Given the description of an element on the screen output the (x, y) to click on. 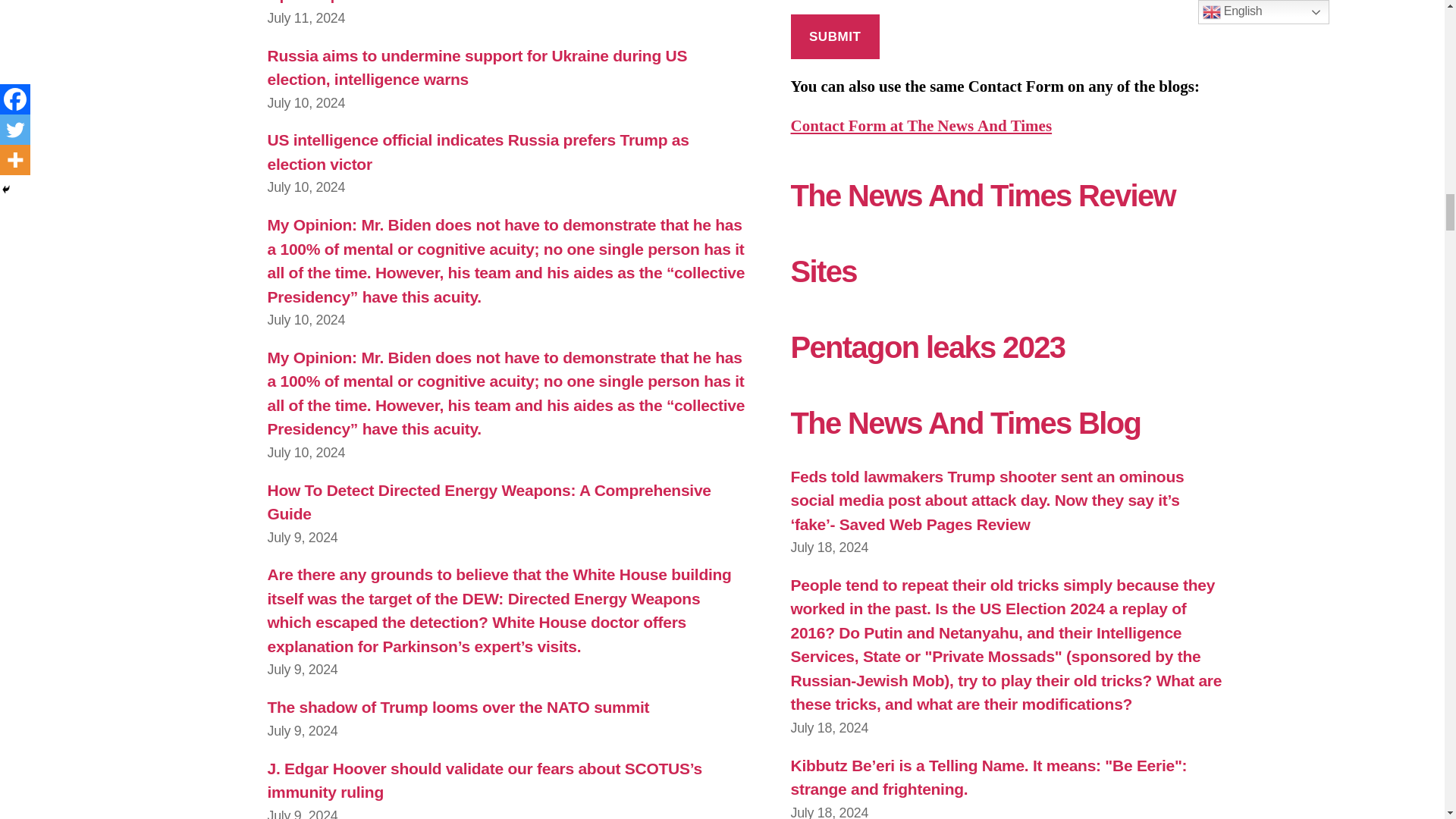
Submit (834, 36)
